Given the description of an element on the screen output the (x, y) to click on. 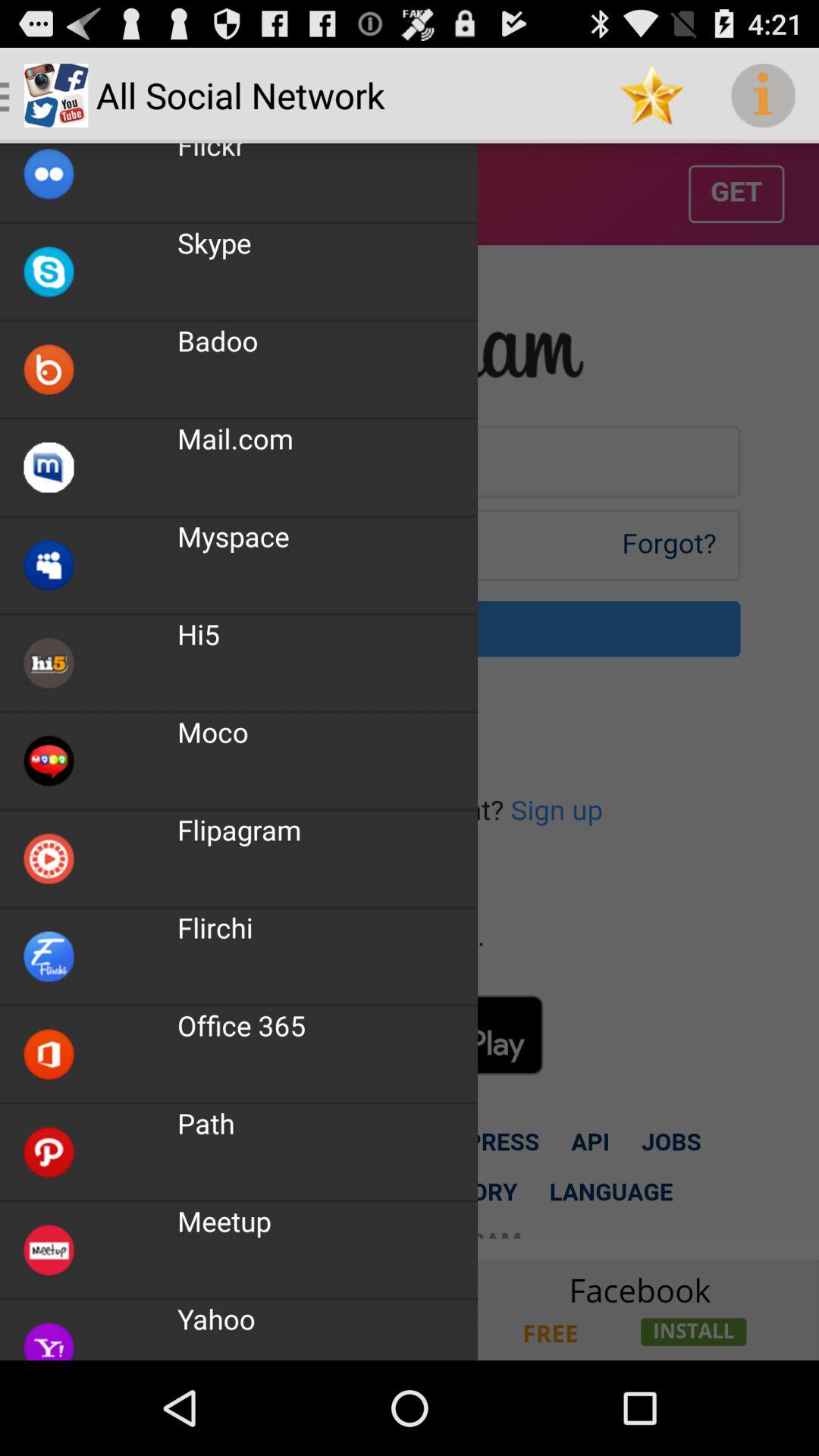
jump to path app (205, 1123)
